Given the description of an element on the screen output the (x, y) to click on. 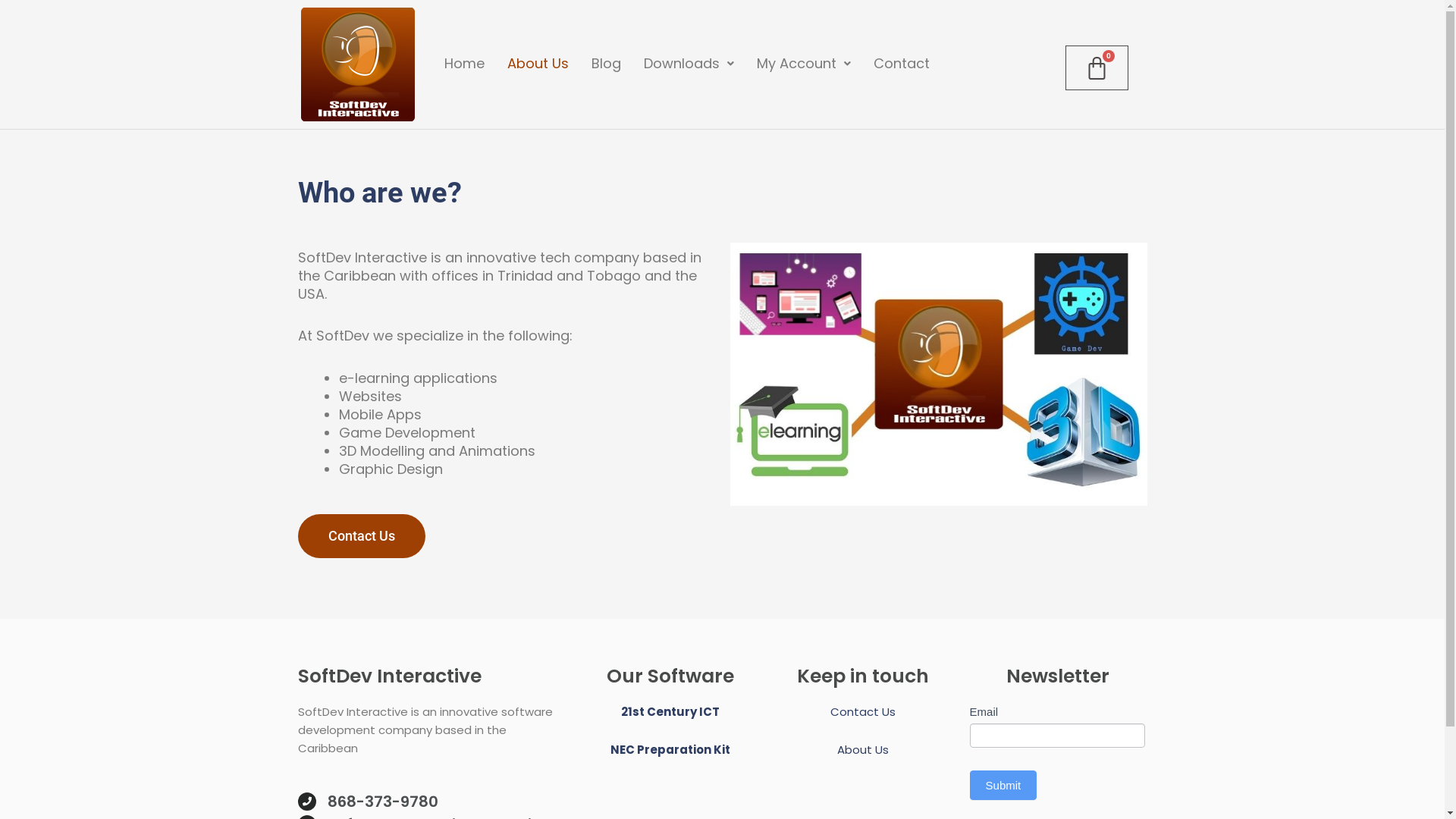
21st Century ICT Element type: text (670, 711)
About Us Element type: text (537, 63)
868-373-9780 Element type: text (382, 801)
Contact Us Element type: text (862, 711)
NEC Preparation Kit Element type: text (670, 749)
Downloads Element type: text (688, 63)
My Account Element type: text (803, 63)
Contact Element type: text (901, 63)
Blog Element type: text (606, 63)
About Us Element type: text (862, 749)
Submit Element type: text (1003, 785)
Contact Us Element type: text (360, 536)
Home Element type: text (464, 63)
